Given the description of an element on the screen output the (x, y) to click on. 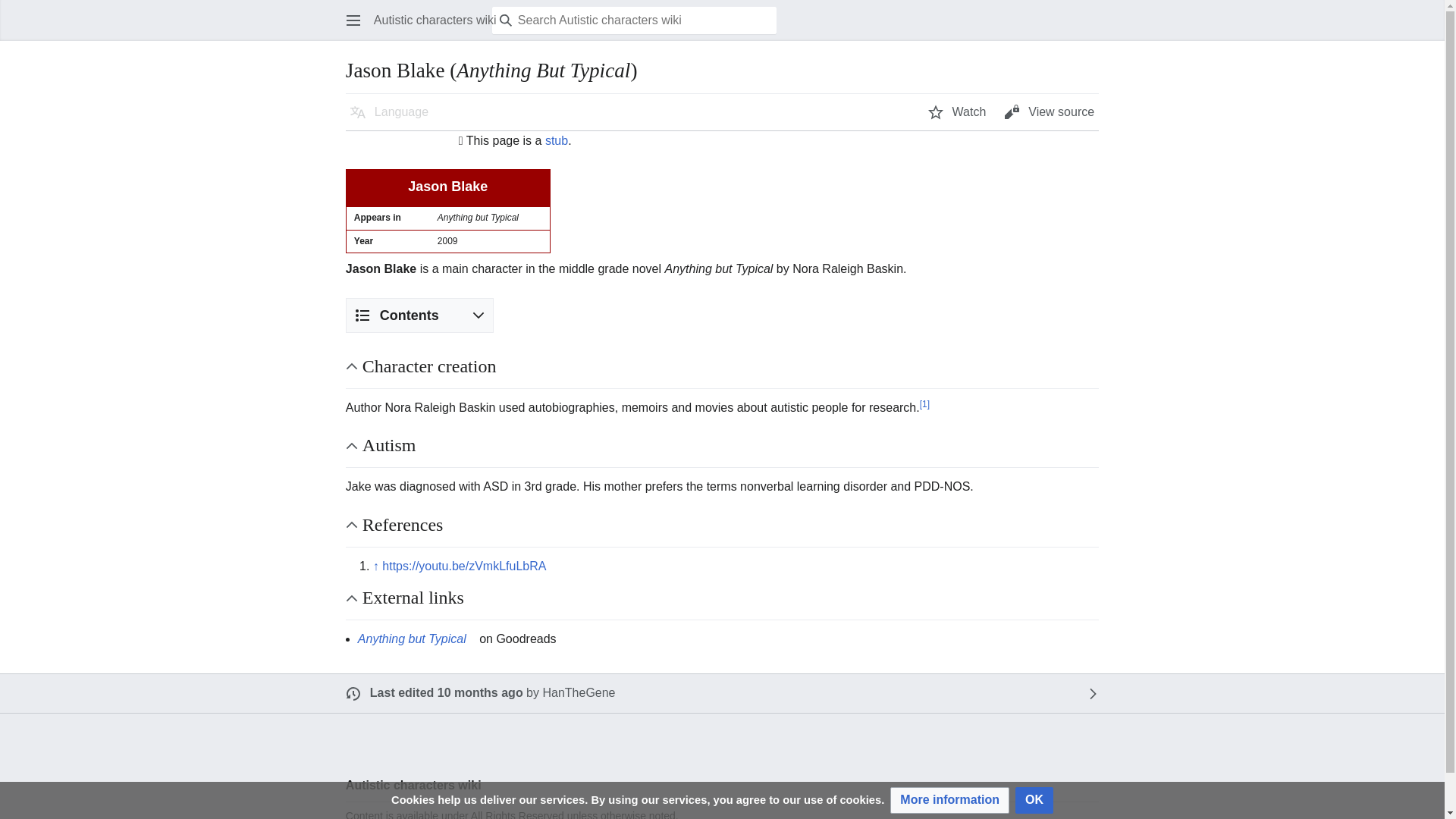
Category:Stubs (555, 140)
OK (1033, 800)
stub (555, 140)
View source (1048, 111)
Watch (956, 111)
Language (389, 111)
More information (949, 800)
Language (389, 111)
Anything but Typical (417, 638)
